Given the description of an element on the screen output the (x, y) to click on. 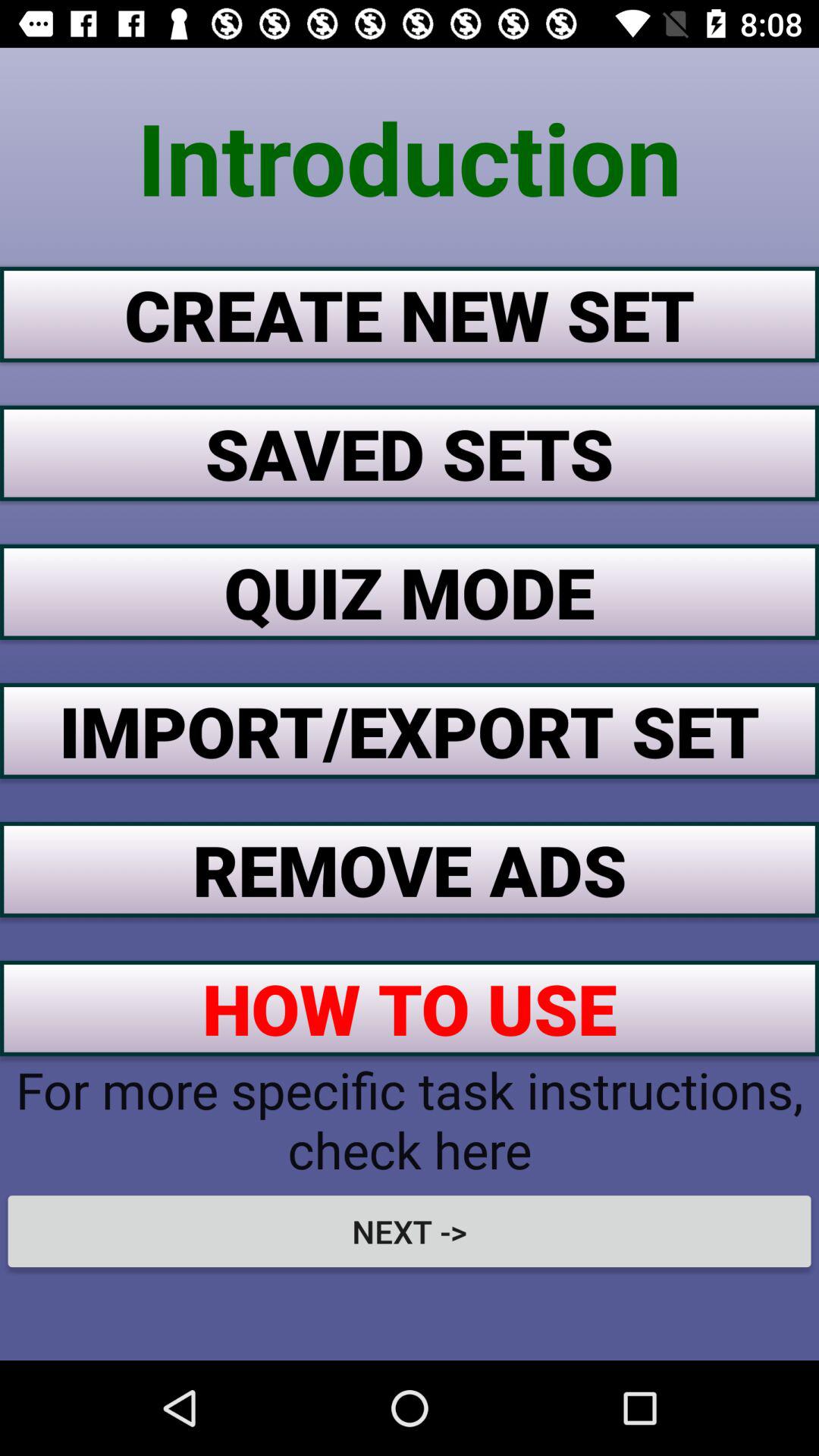
click next -> button (409, 1231)
